Given the description of an element on the screen output the (x, y) to click on. 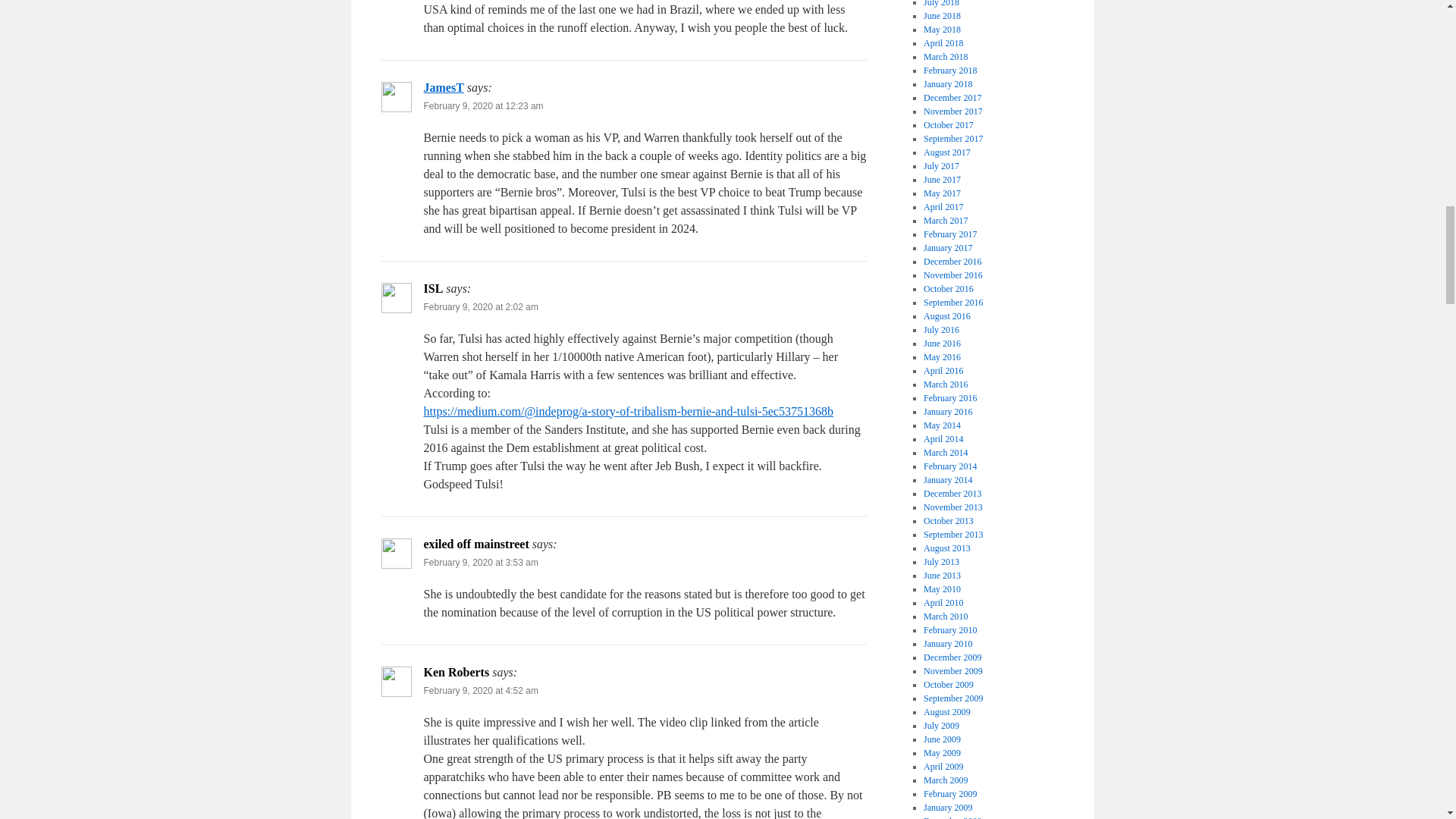
February 9, 2020 at 4:52 am (480, 690)
JamesT (443, 87)
February 9, 2020 at 2:02 am (480, 307)
February 9, 2020 at 12:23 am (483, 105)
February 9, 2020 at 3:53 am (480, 562)
